Given the description of an element on the screen output the (x, y) to click on. 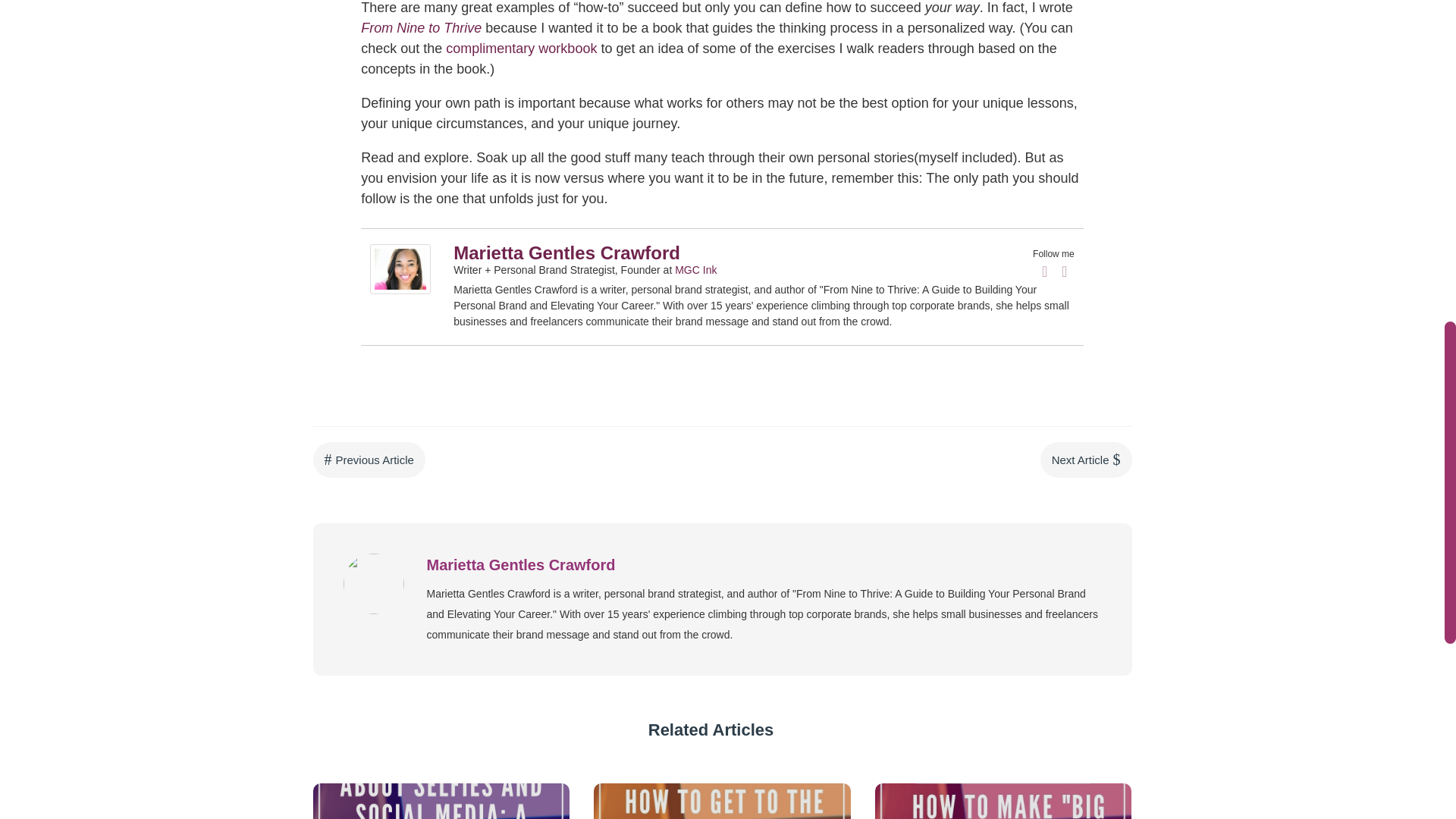
complimentary workbook (520, 48)
Twitter (1064, 271)
Marietta Gentles Crawford (399, 289)
Facebook (1044, 271)
MGC Ink (695, 269)
From Nine to Thrive (421, 28)
Marietta Gentles Crawford (565, 252)
